Given the description of an element on the screen output the (x, y) to click on. 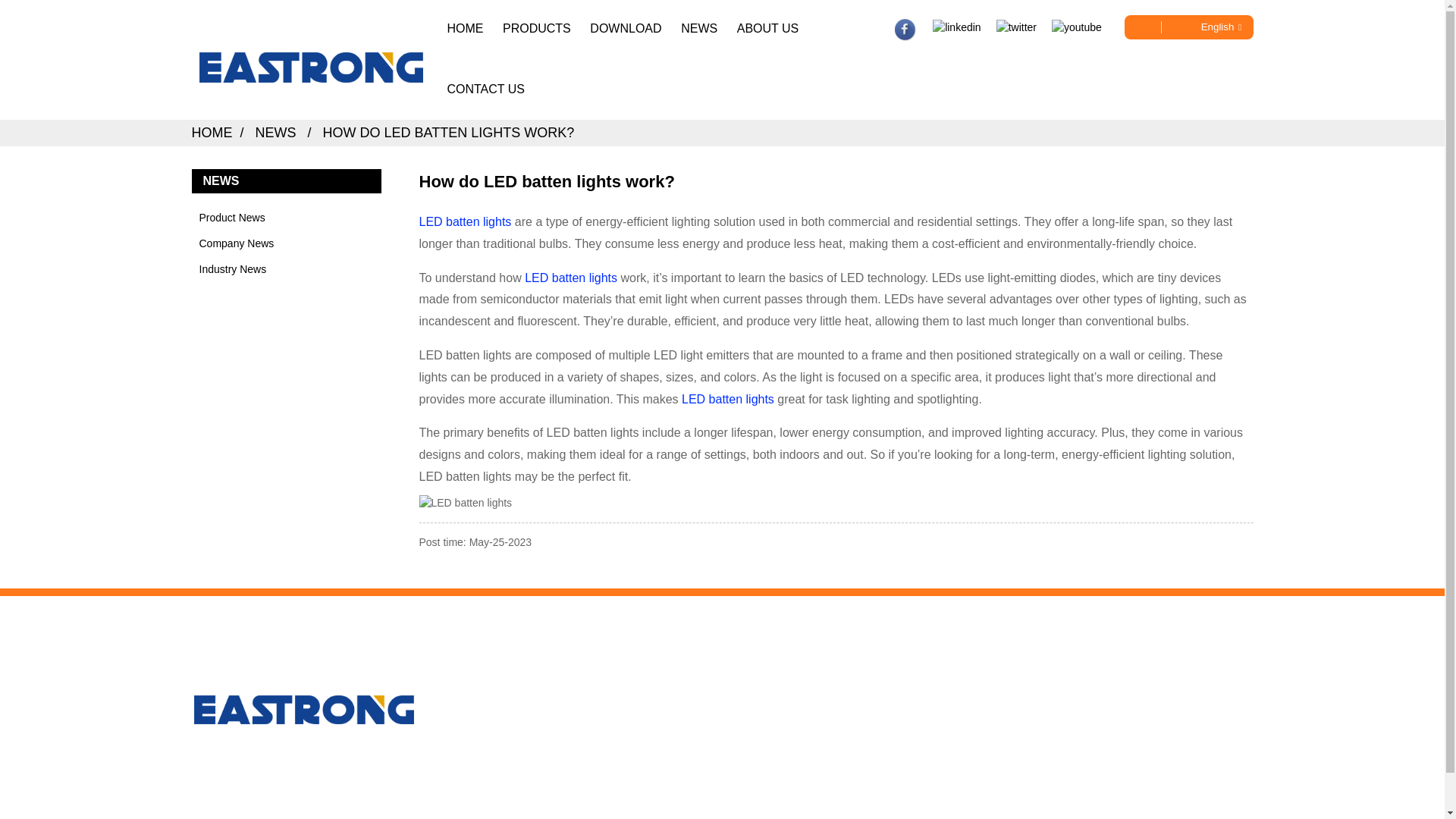
HOME (210, 132)
LED batten lights (727, 399)
LED batten lights (465, 221)
Product News (278, 217)
DOWNLOAD (625, 29)
ABOUT US (767, 29)
NEWS (276, 132)
Industry News (278, 268)
LED batten lights (570, 277)
CONTACT US (485, 88)
